Given the description of an element on the screen output the (x, y) to click on. 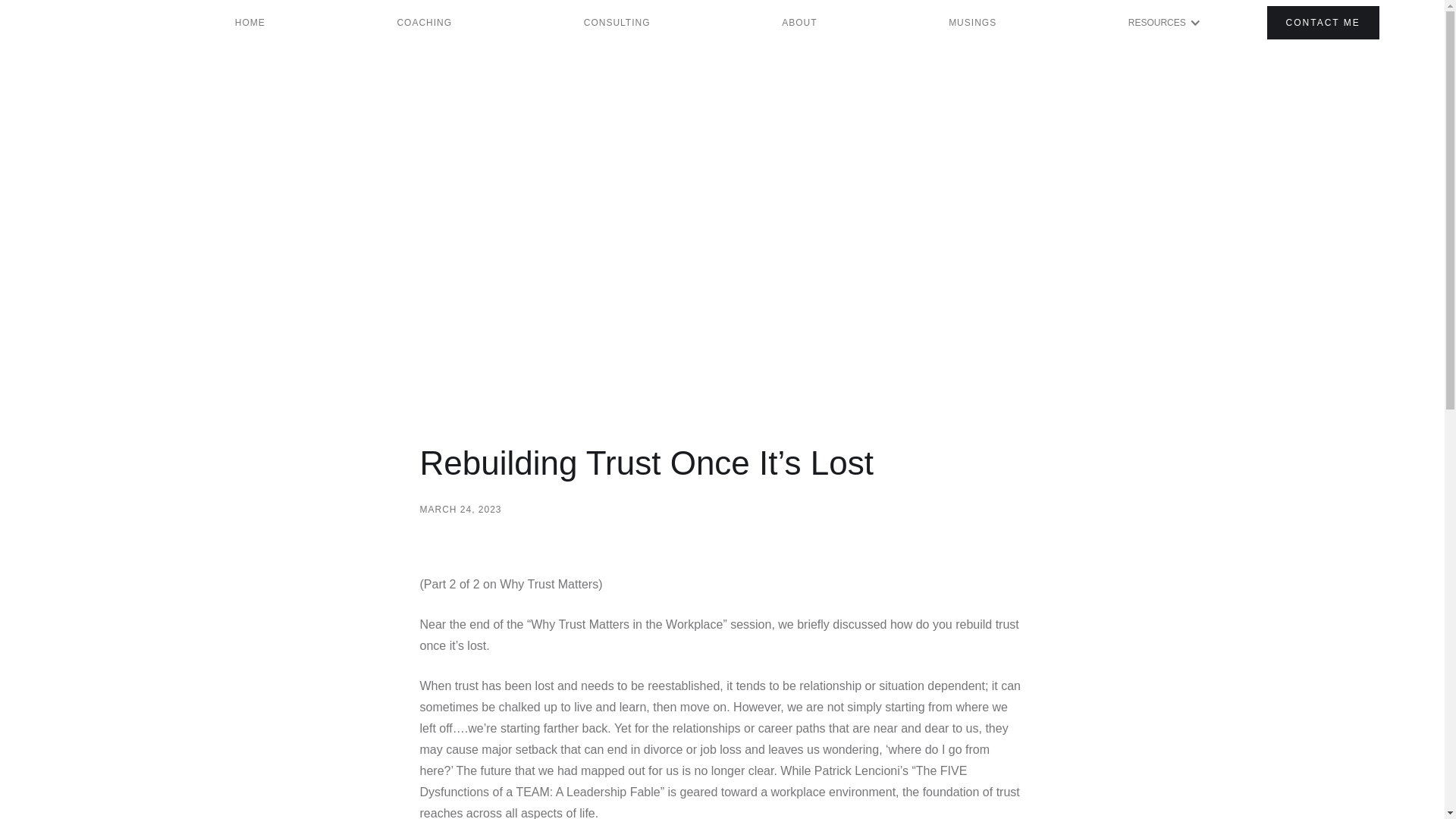
CONTACT ME Element type: text (1323, 22)
CONSULTING Element type: text (616, 22)
ABOUT Element type: text (798, 22)
COACHING Element type: text (424, 22)
MUSINGS Element type: text (972, 22)
HOME Element type: text (249, 22)
